Given the description of an element on the screen output the (x, y) to click on. 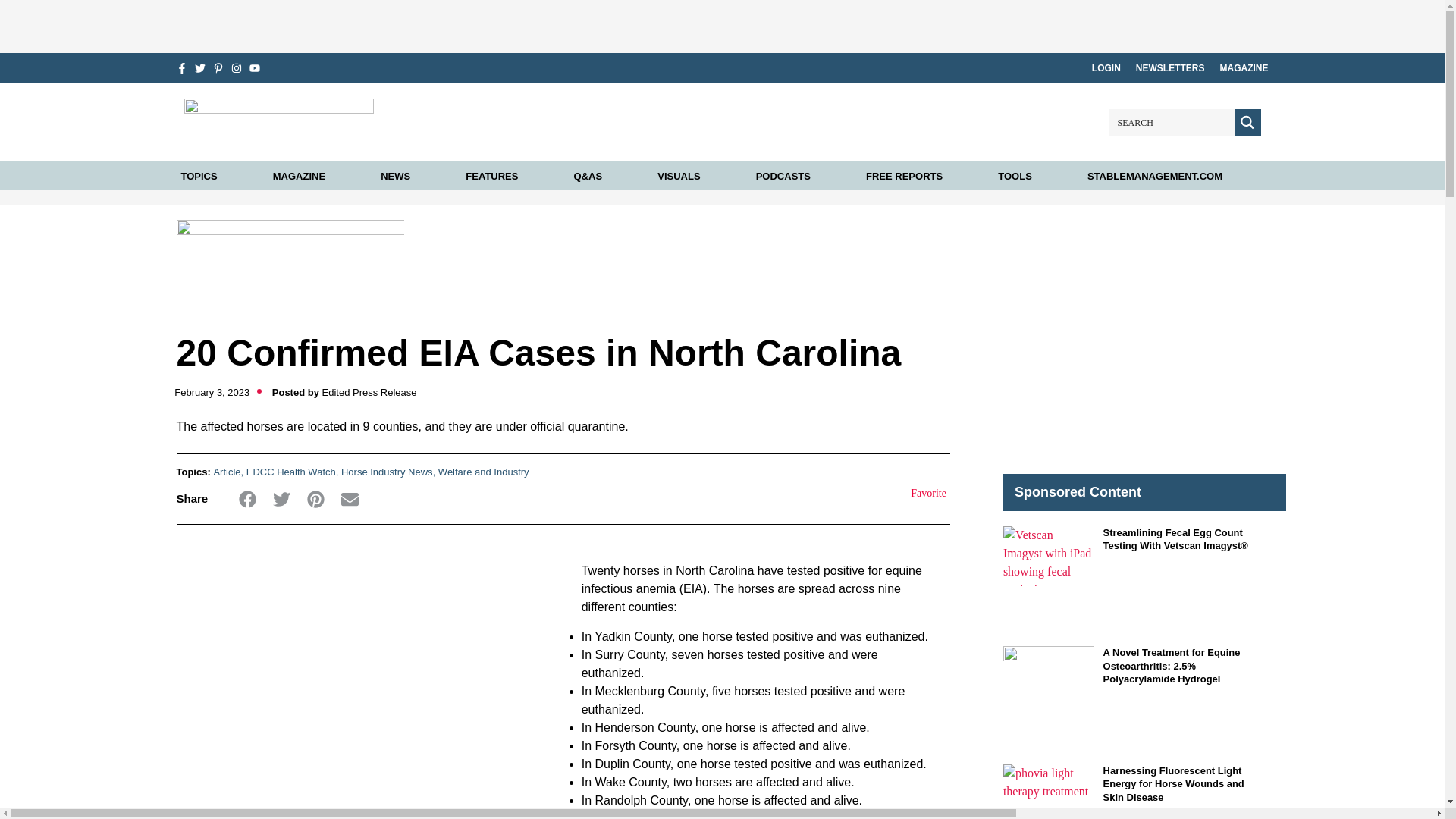
TOPICS (198, 176)
LOGIN (1106, 68)
MAGAZINE (1244, 68)
NEWSLETTERS (1170, 68)
MAGAZINE (298, 176)
Bookmark This (919, 494)
